Given the description of an element on the screen output the (x, y) to click on. 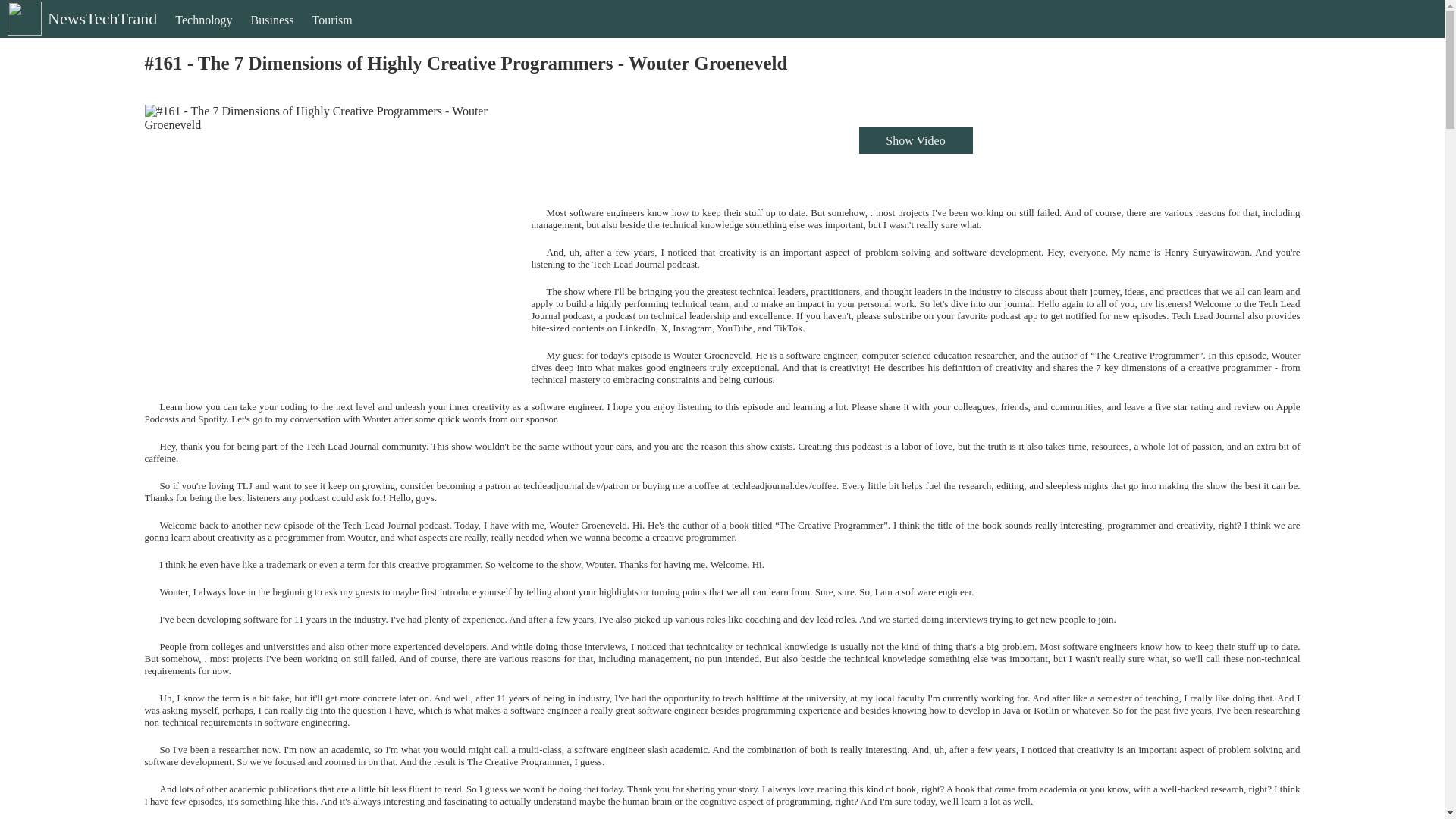
Business (272, 32)
Show Video (915, 140)
Tourism (332, 32)
NewsTechTrand (80, 31)
Technology (202, 32)
